Given the description of an element on the screen output the (x, y) to click on. 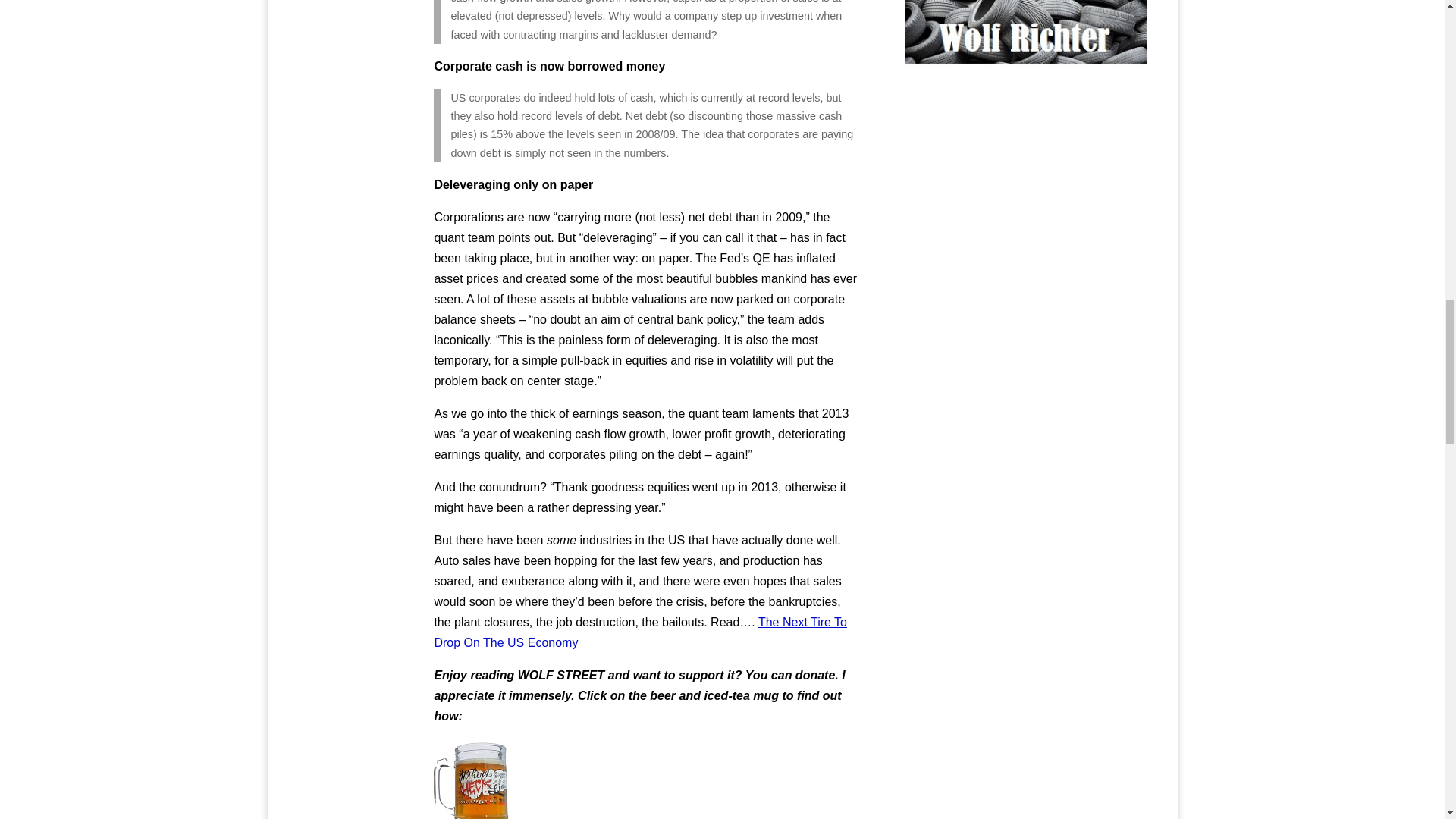
The Next Tire To Drop On The US Economy (640, 632)
